Given the description of an element on the screen output the (x, y) to click on. 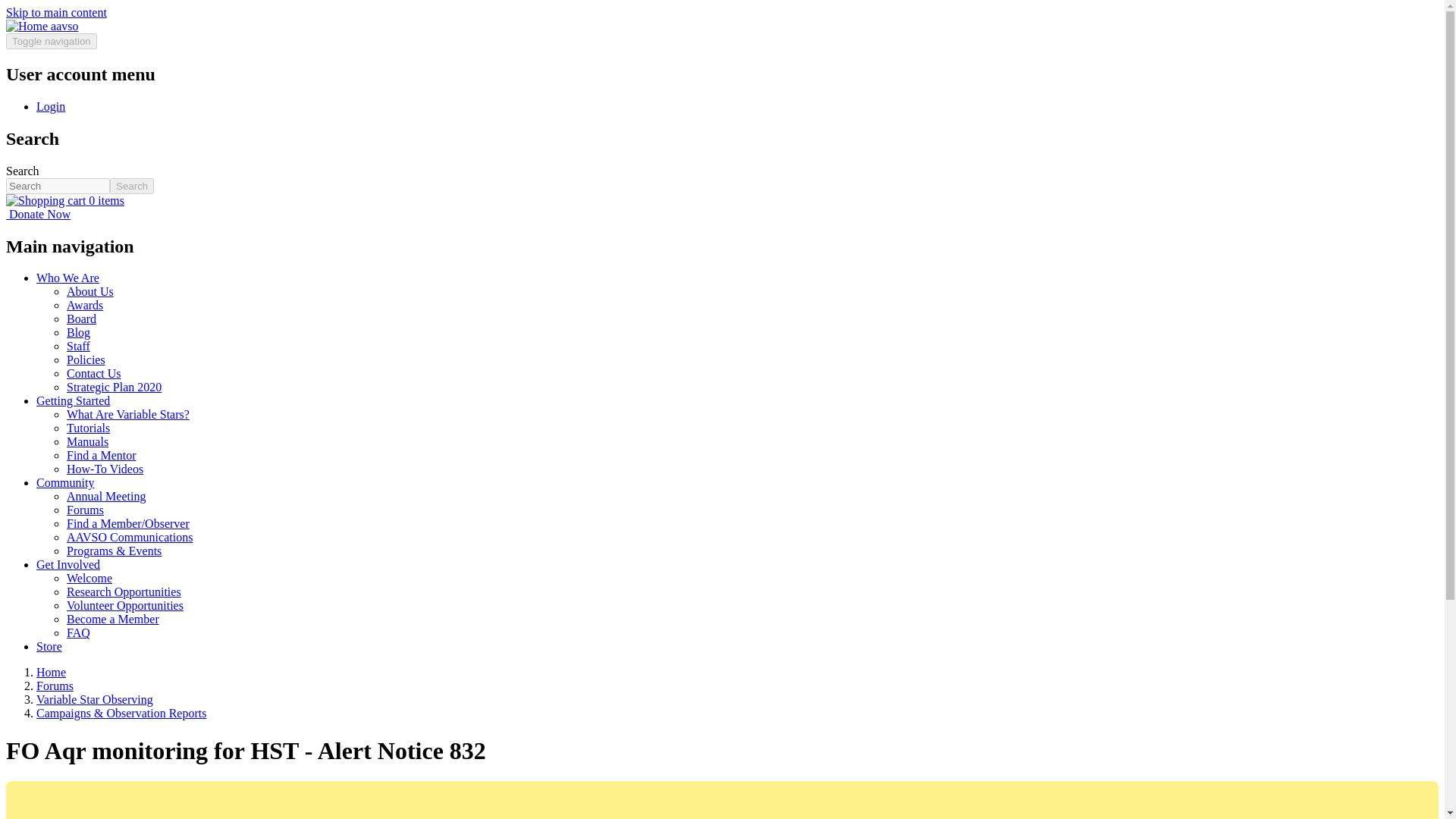
Forums (84, 509)
Board (81, 318)
Find a Mentor (101, 454)
Enter the terms you wish to search for. (57, 186)
How-To Videos (104, 468)
Strategic Plan (113, 386)
 Donate Now (37, 214)
Community (65, 481)
Volunteer Opportunities (124, 604)
FAQ (78, 632)
